Given the description of an element on the screen output the (x, y) to click on. 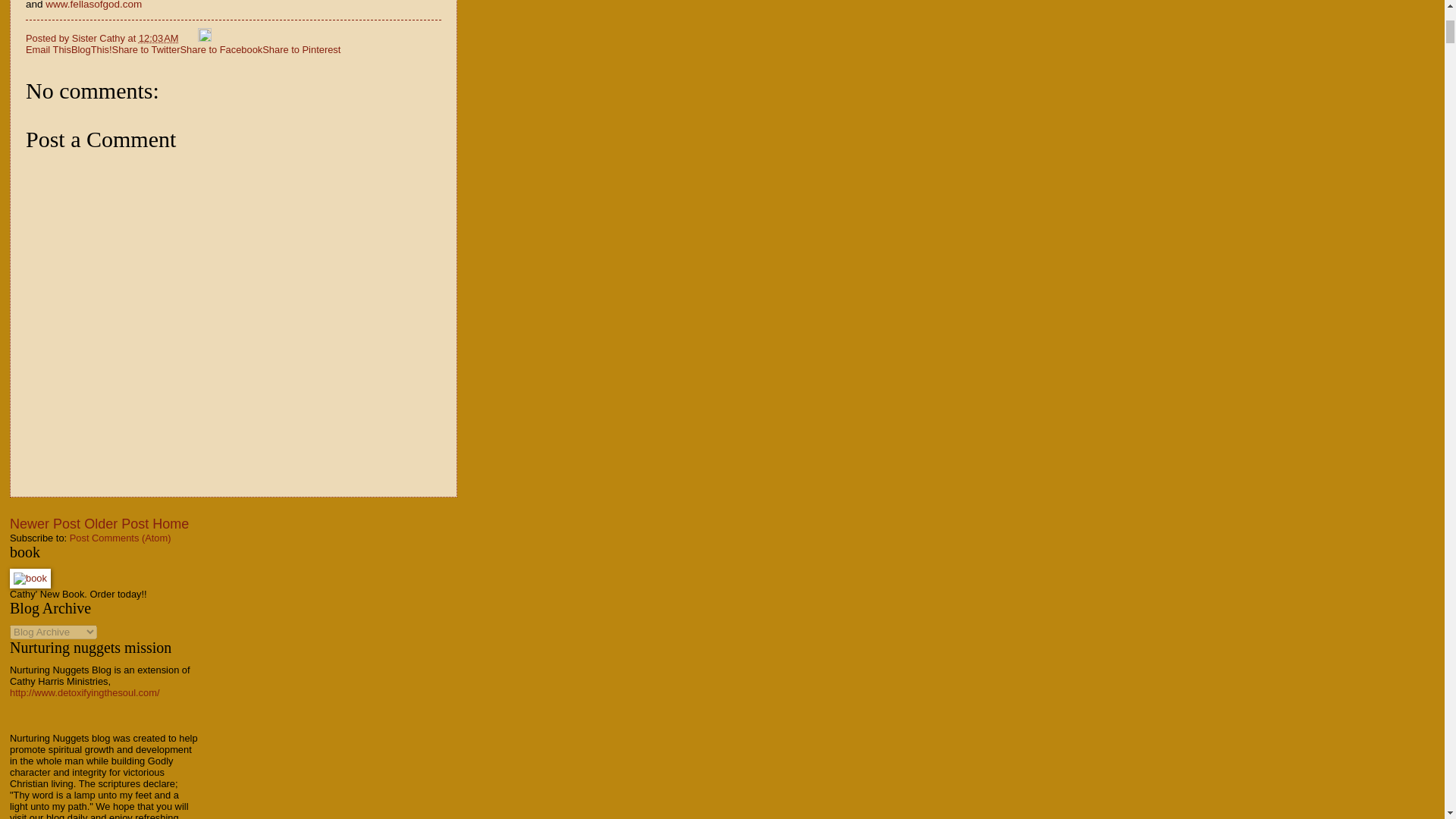
Share to Twitter (146, 49)
Older Post (116, 523)
Home (170, 523)
Email Post (189, 38)
Newer Post (45, 523)
Share to Facebook (220, 49)
permanent link (158, 38)
Edit Post (204, 38)
BlogThis! (91, 49)
Share to Twitter (146, 49)
Newer Post (45, 523)
BlogThis! (91, 49)
Email This (48, 49)
Share to Facebook (220, 49)
